Given the description of an element on the screen output the (x, y) to click on. 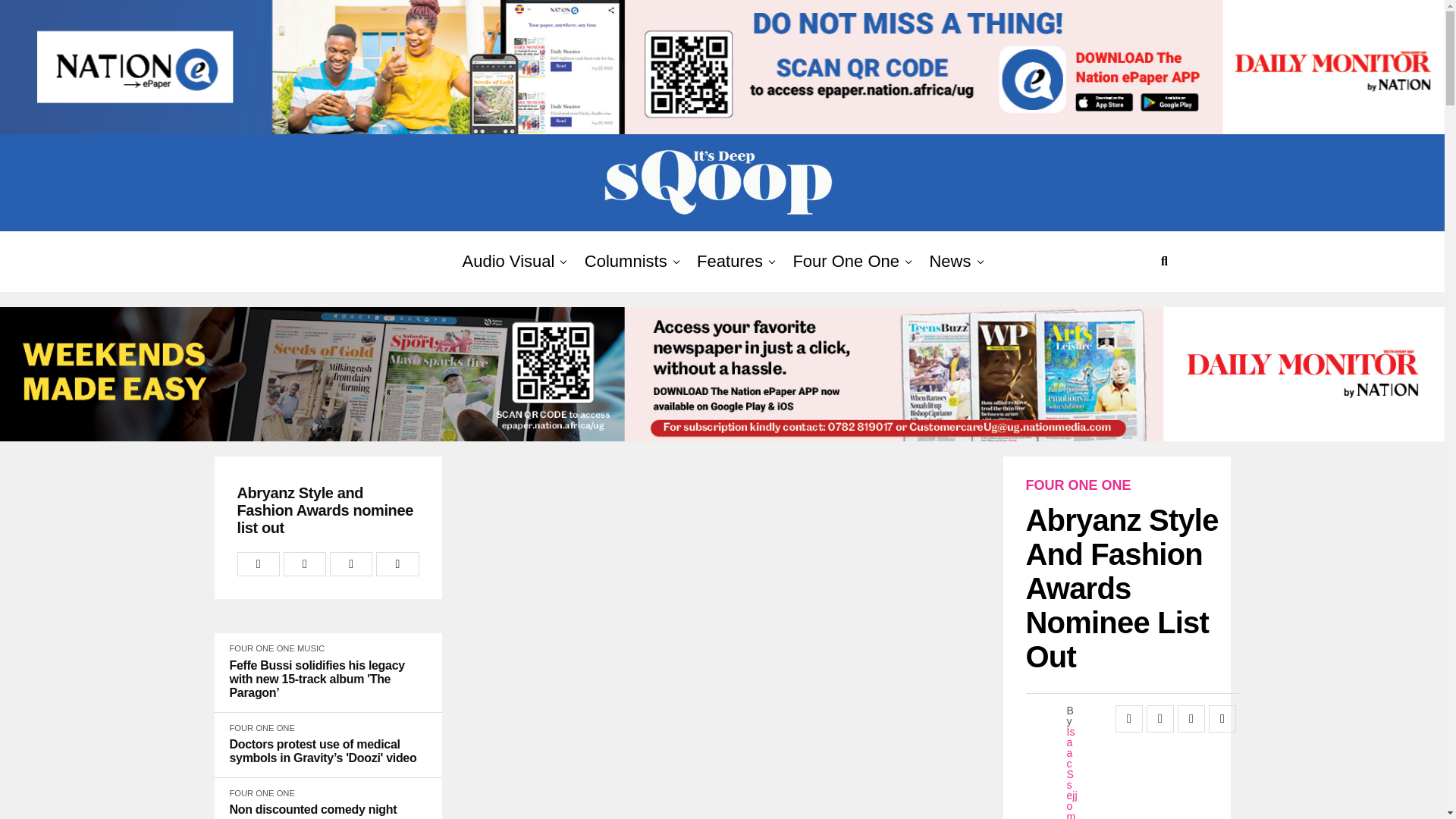
Audio Visual (508, 260)
Share on Facebook (257, 564)
Tweet This Post (304, 564)
Columnists (625, 260)
Share on Flipboard (351, 564)
